Given the description of an element on the screen output the (x, y) to click on. 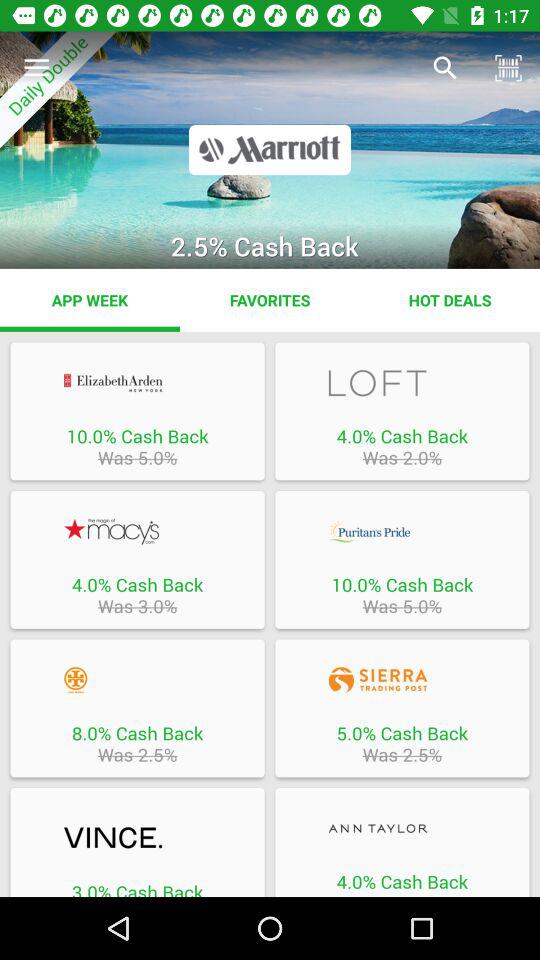
launch the icon next to hot deals (270, 299)
